Given the description of an element on the screen output the (x, y) to click on. 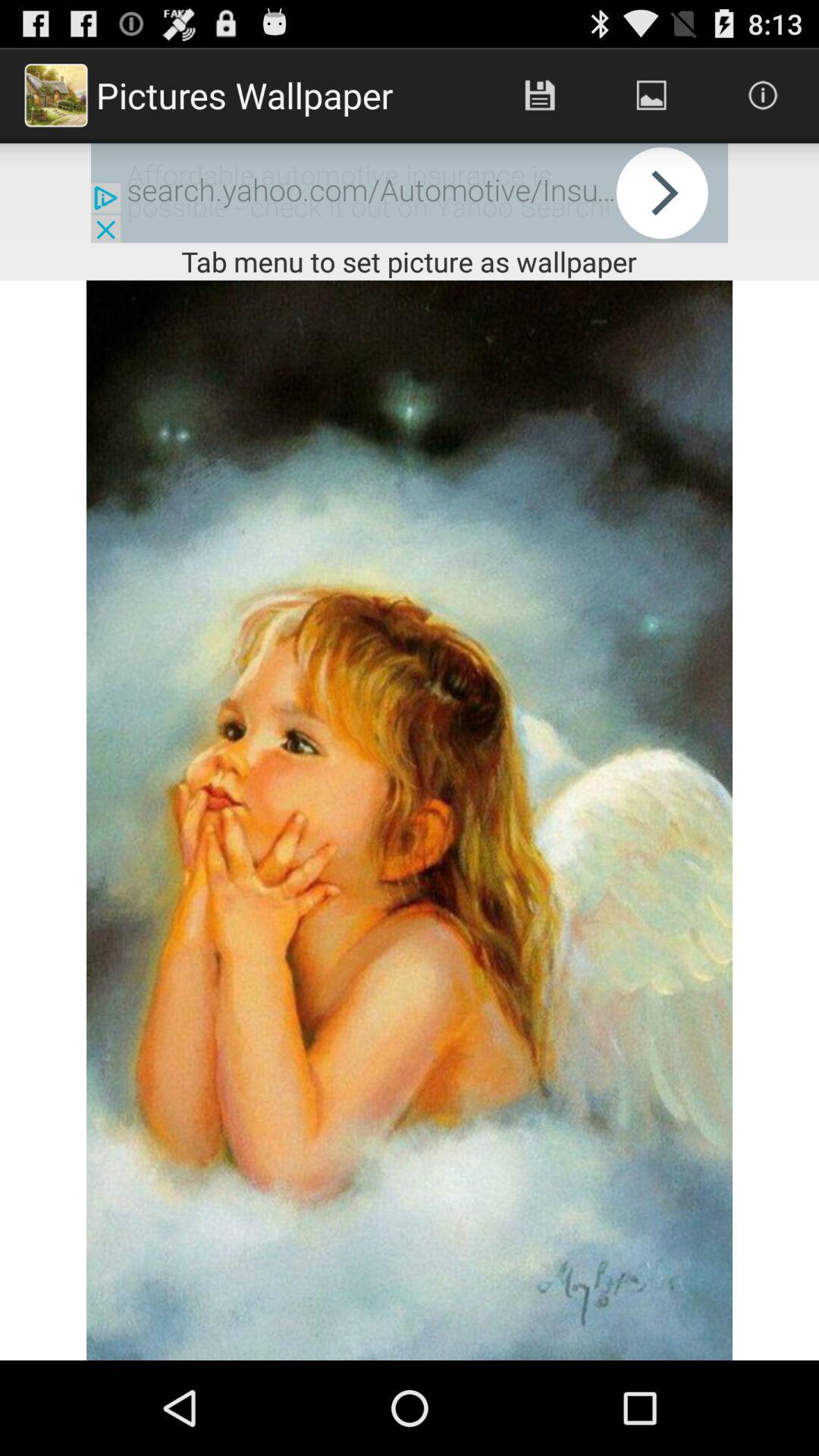
previou page (409, 192)
